Given the description of an element on the screen output the (x, y) to click on. 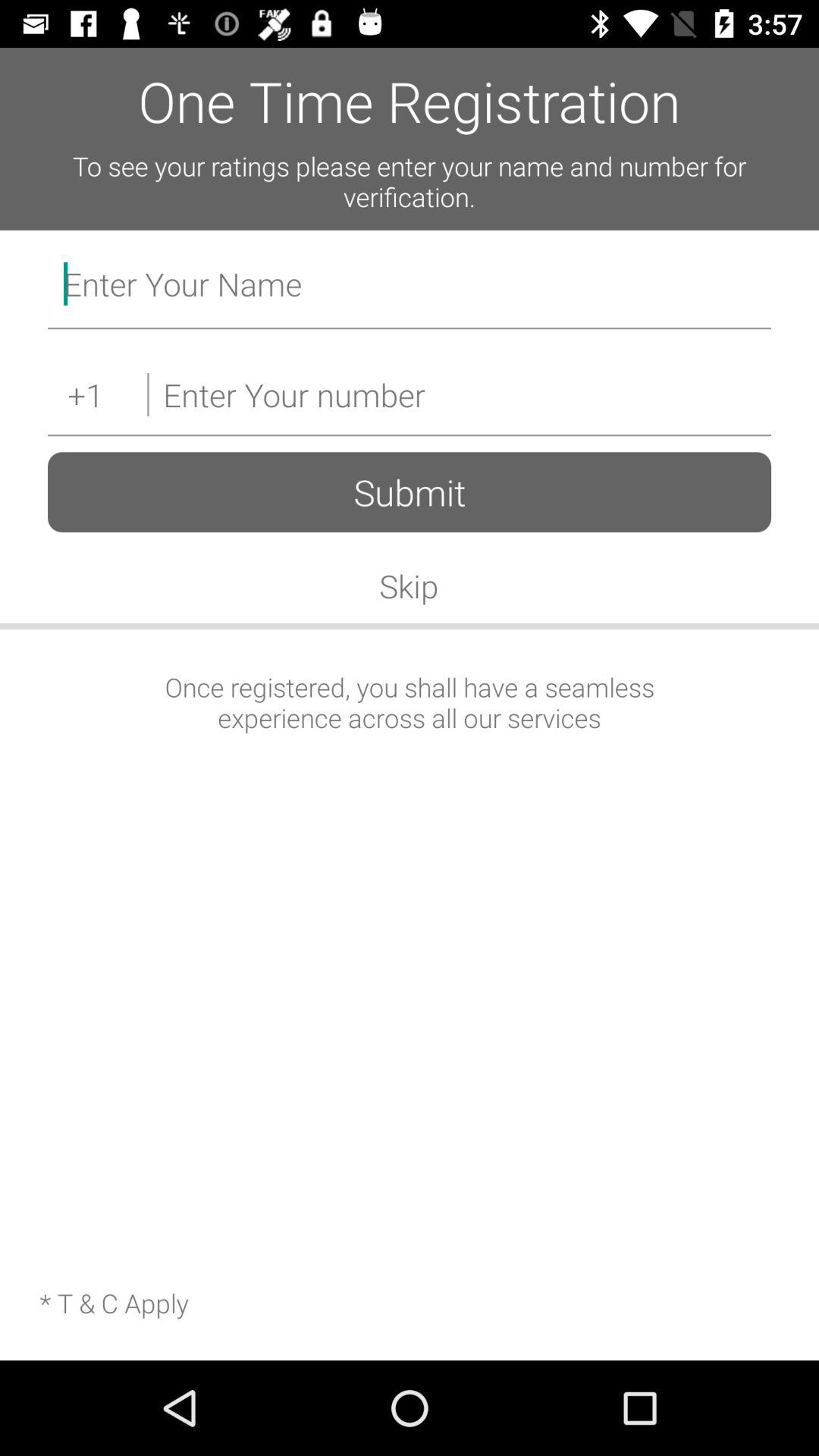
turn on the icon above the +1 item (409, 287)
